Given the description of an element on the screen output the (x, y) to click on. 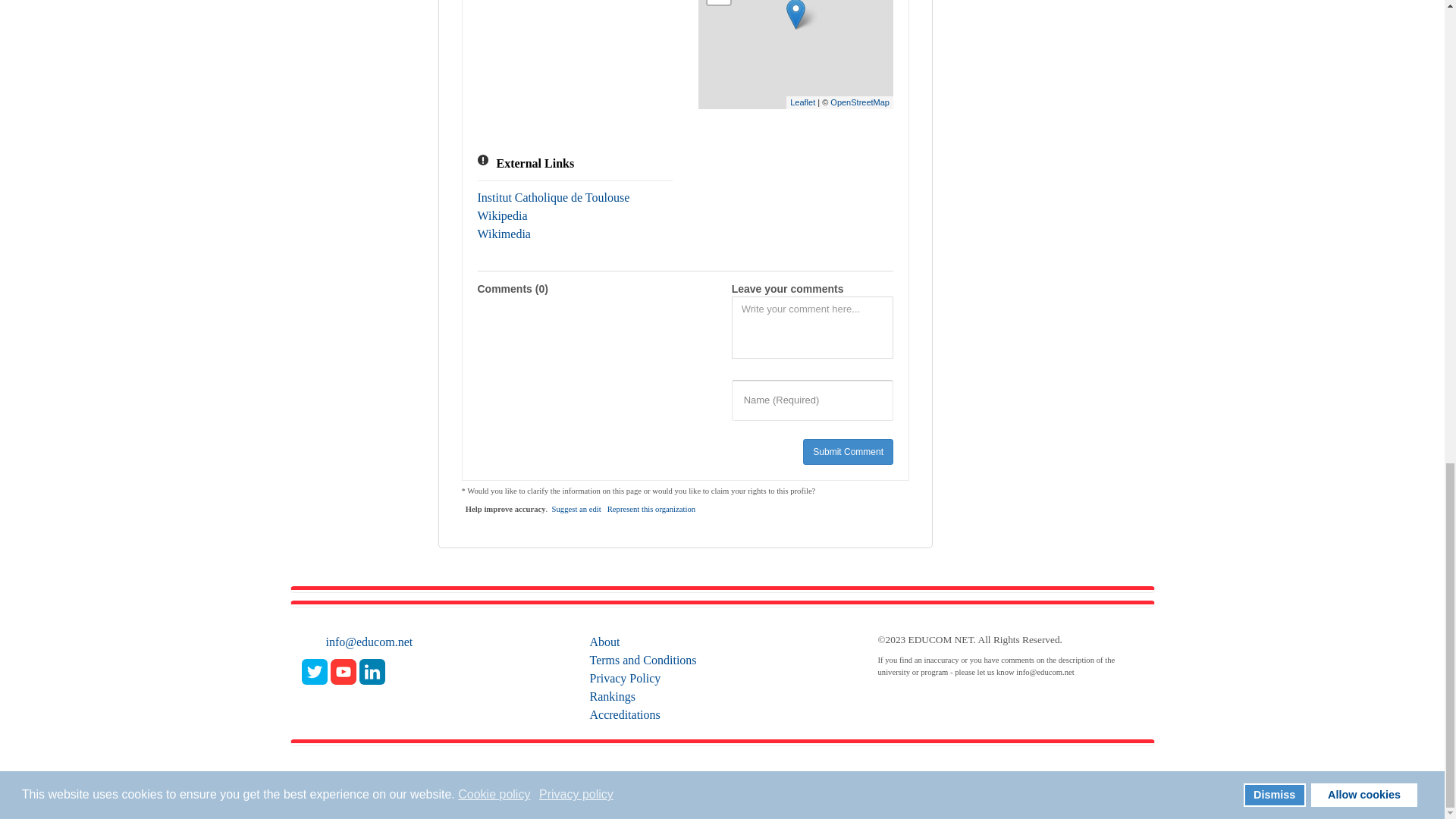
Institut Catholique de Toulouse (553, 196)
A JS library for interactive maps (802, 102)
Zoom out (718, 2)
Wikipedia (502, 215)
OpenStreetMap (859, 102)
Youtube (342, 671)
Leaflet (802, 102)
Twitter (313, 671)
Wikimedia (504, 233)
